Given the description of an element on the screen output the (x, y) to click on. 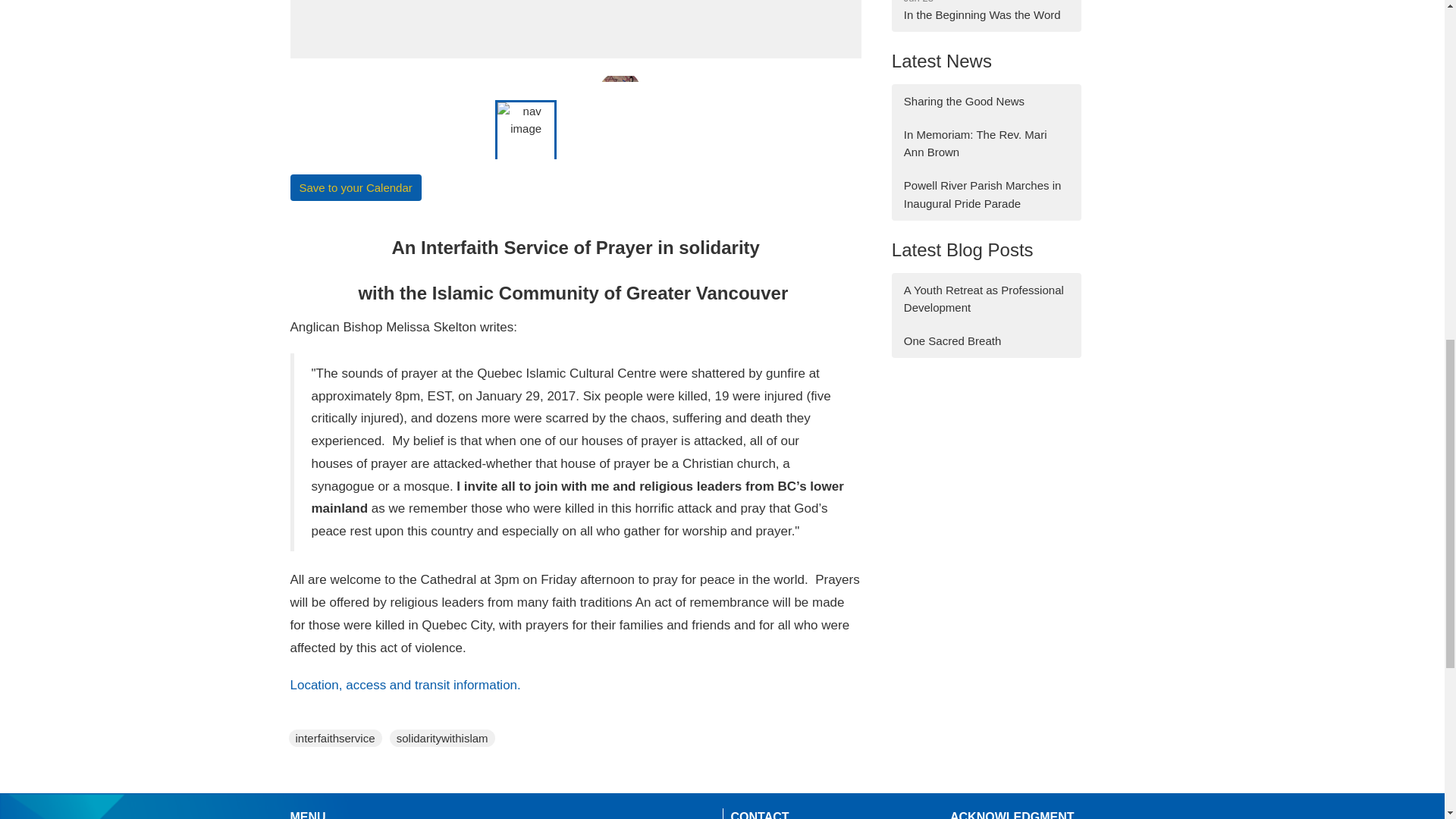
interfaithservice (335, 737)
solidaritywithislam (441, 737)
Save to your Calendar (354, 187)
Location, access and transit information. (404, 685)
